Given the description of an element on the screen output the (x, y) to click on. 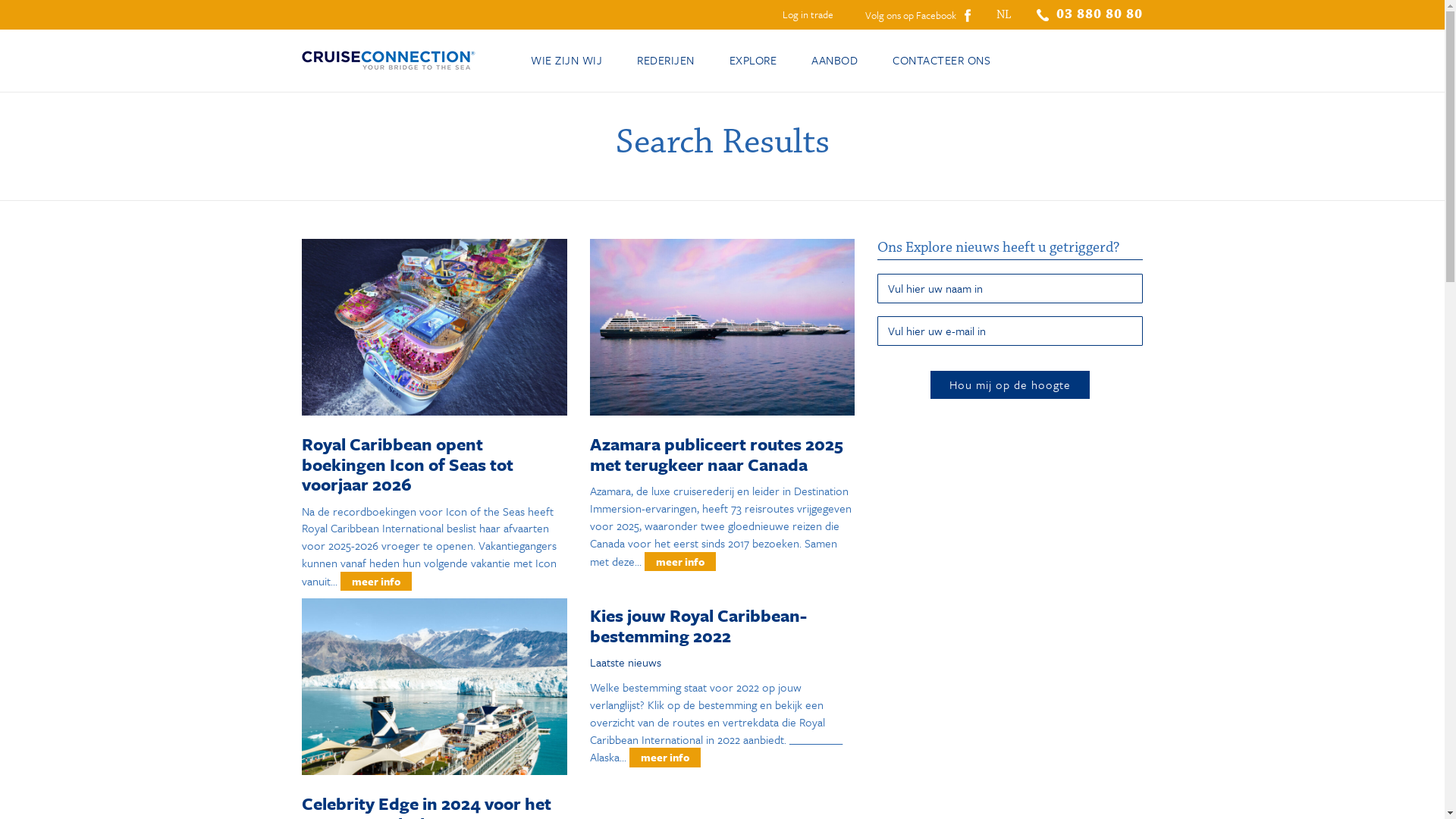
Azamara publiceert routes 2025 met terugkeer naar Canada Element type: text (716, 453)
EXPLORE Element type: text (752, 60)
meer info Element type: text (679, 561)
Laatste nieuws Element type: text (625, 661)
Hou mij op de hoogte Element type: text (1009, 384)
03 880 80 80 Element type: text (1089, 13)
Volg ons op Facebook Element type: text (917, 13)
REDERIJEN Element type: text (665, 60)
meer info Element type: text (664, 756)
Kies jouw Royal Caribbean-bestemming 2022 Element type: text (697, 624)
Log in trade Element type: text (810, 13)
NL Element type: text (1003, 14)
meer info Element type: text (375, 580)
CONTACTEER ONS Element type: text (941, 60)
AANBOD Element type: text (834, 60)
WIE ZIJN WIJ Element type: text (566, 60)
